Given the description of an element on the screen output the (x, y) to click on. 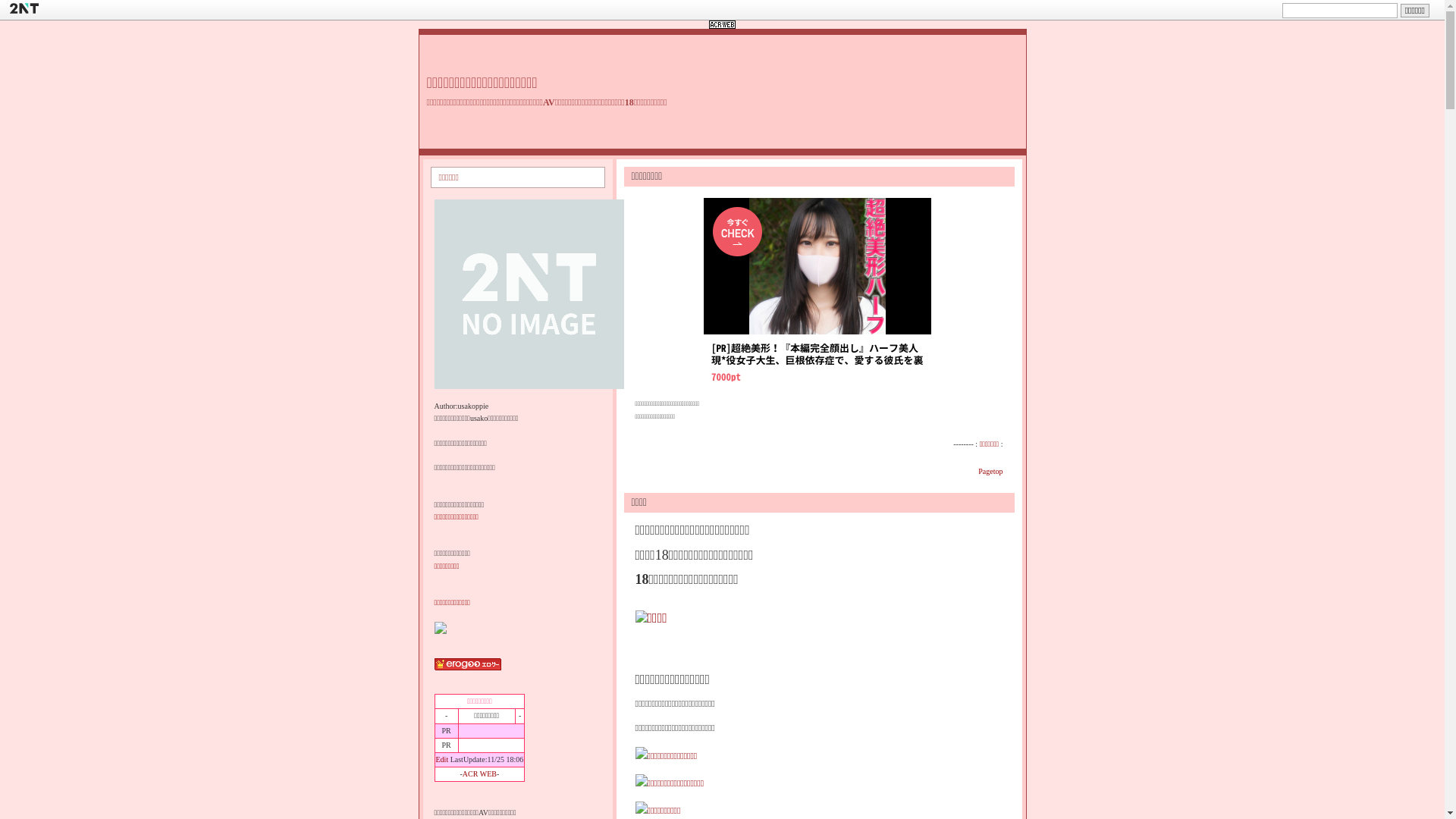
Pagetop Element type: text (990, 471)
Edit Element type: text (441, 759)
ACR WEB Element type: text (479, 773)
